Given the description of an element on the screen output the (x, y) to click on. 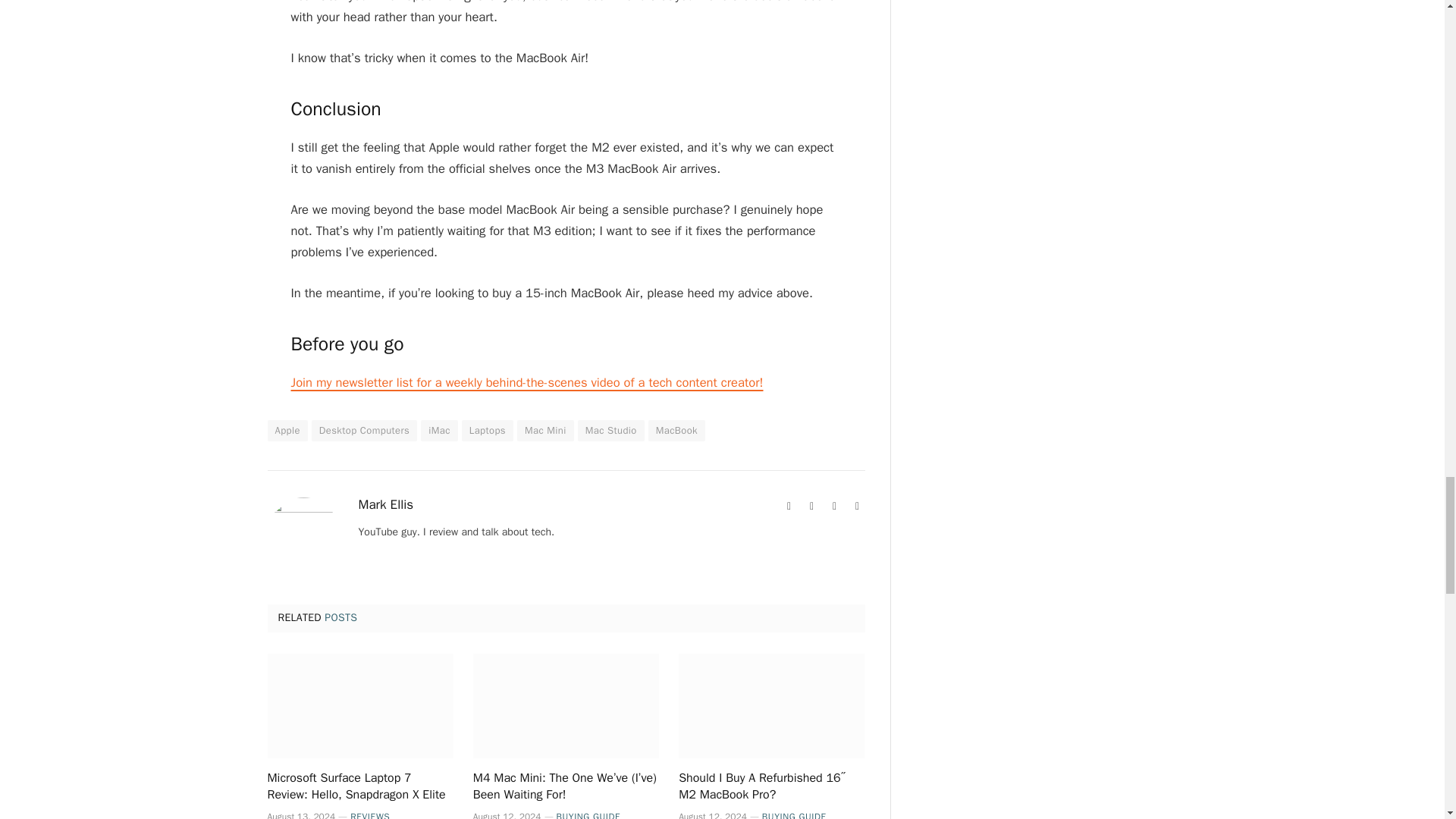
Website (788, 506)
Microsoft Surface Laptop 7 Review: Hello, Snapdragon X Elite (359, 705)
Posts by Mark Ellis (385, 504)
Instagram (856, 506)
Facebook (810, 506)
